Given the description of an element on the screen output the (x, y) to click on. 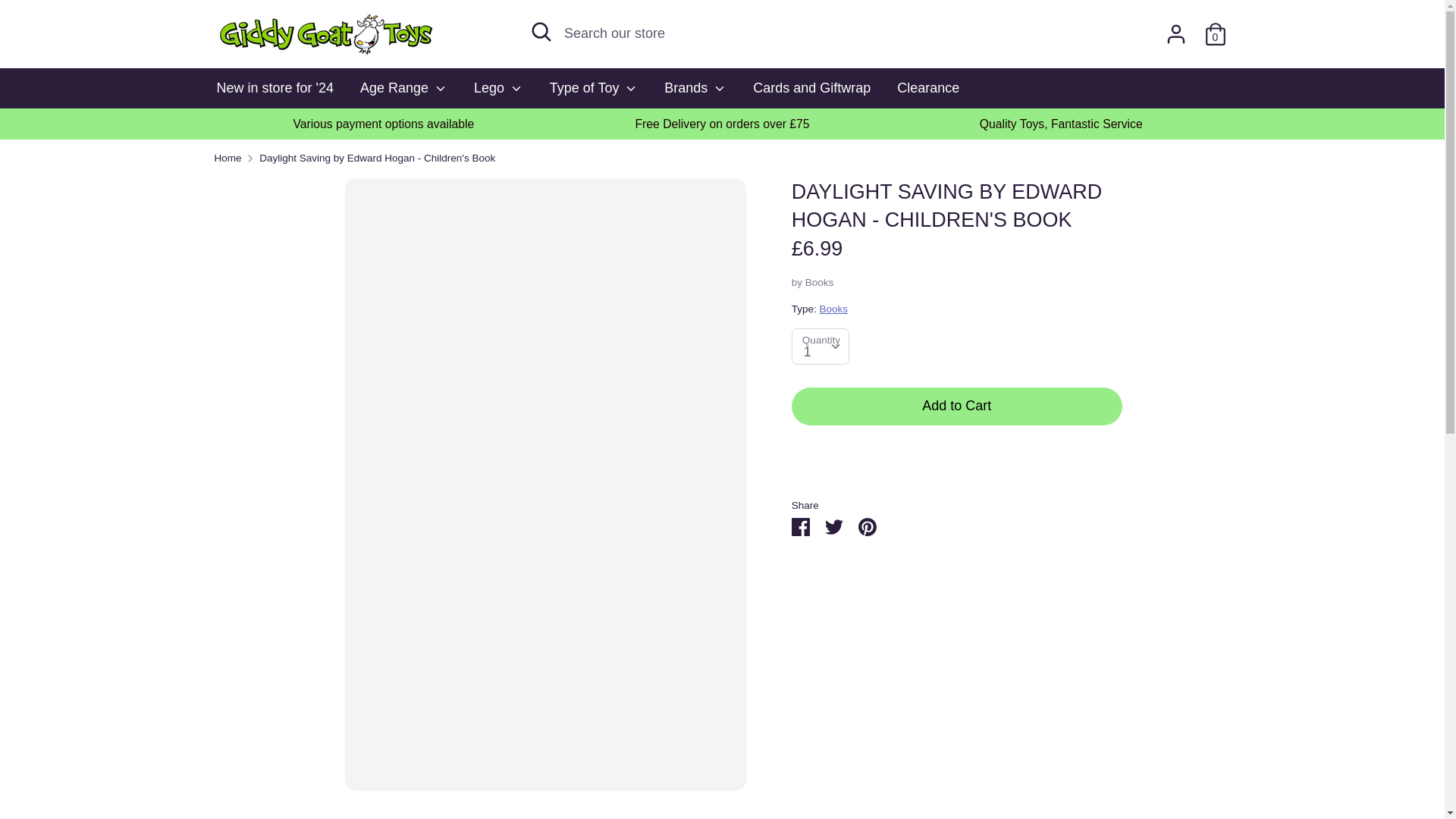
0 (1214, 29)
